Given the description of an element on the screen output the (x, y) to click on. 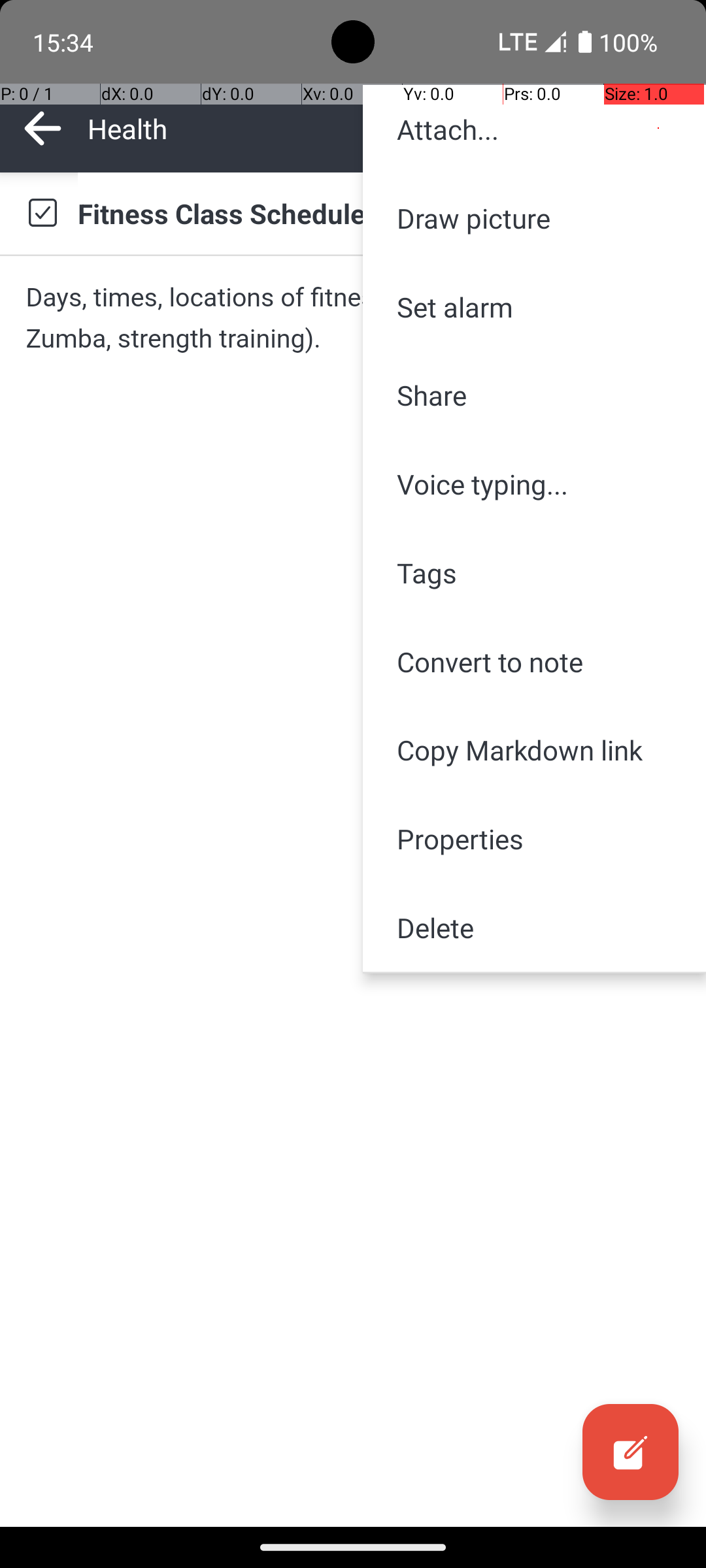
Set alarm Element type: android.widget.TextView (534, 306)
Convert to note Element type: android.widget.TextView (534, 661)
Days, times, locations of fitness classes (yoga, Pilates, Zumba, strength training). Element type: android.widget.TextView (352, 317)
